Given the description of an element on the screen output the (x, y) to click on. 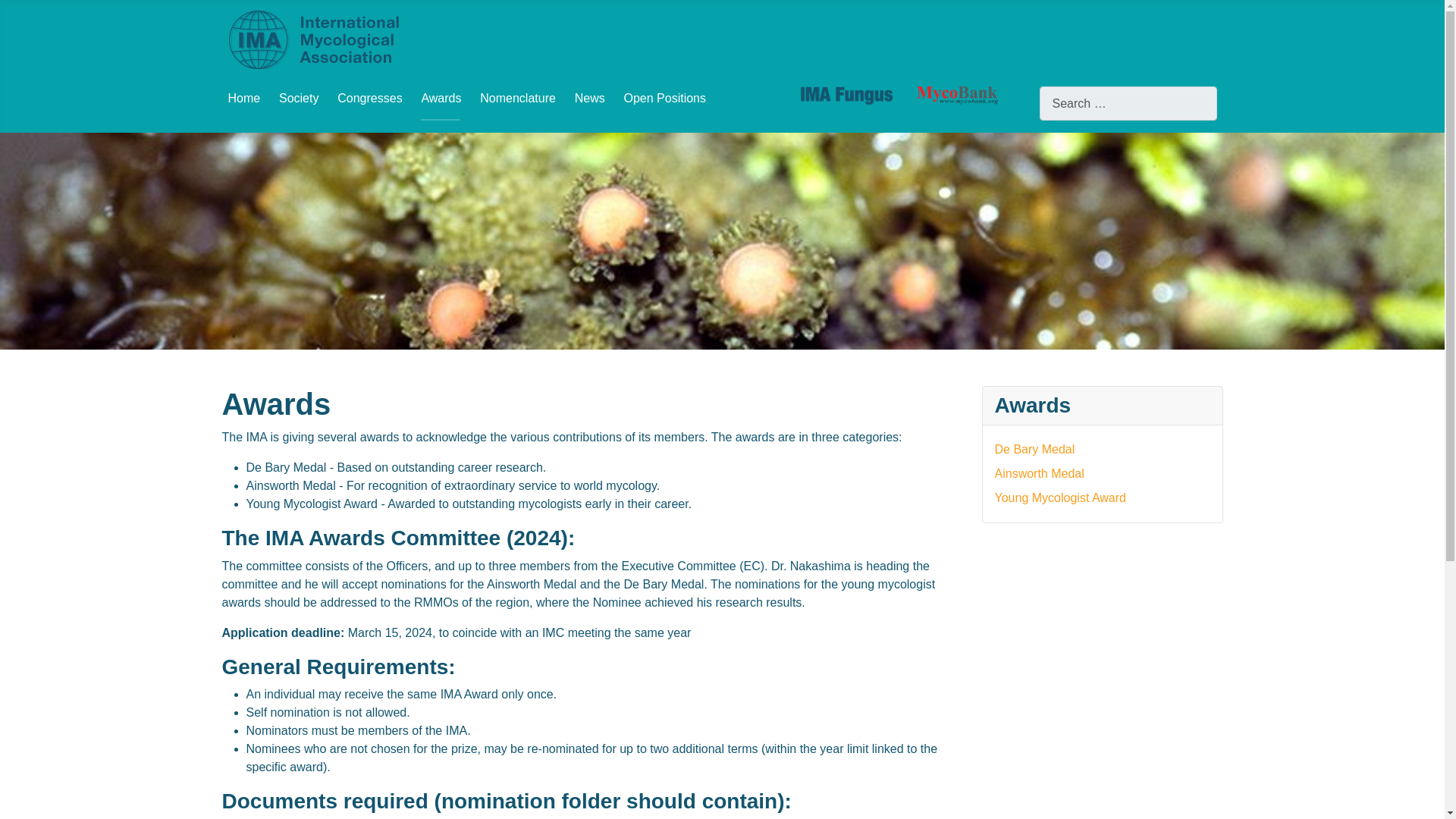
News (590, 97)
Congresses (369, 97)
Nomenclature (518, 97)
Home (243, 97)
Young Mycologist Award (1059, 497)
Open Positions (664, 97)
Awards (440, 97)
De Bary Medal (1034, 449)
Ainsworth Medal (1039, 472)
Society (298, 97)
